Given the description of an element on the screen output the (x, y) to click on. 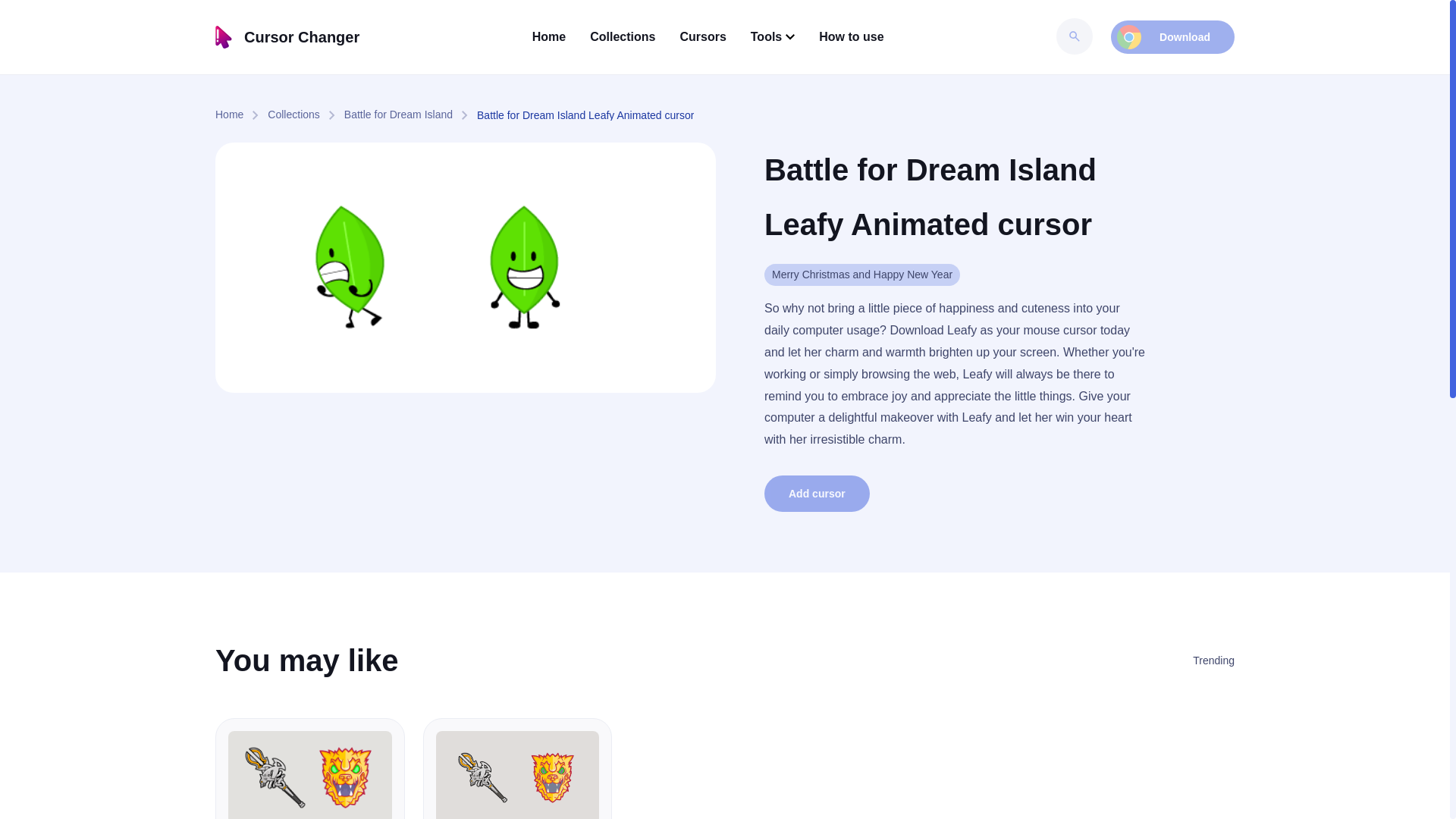
Battle for Dream Island (410, 114)
Collections (622, 36)
Home (549, 36)
Collections (305, 114)
Cursor Changer (287, 36)
Add cursor (816, 493)
Battle for Dream Island (410, 114)
Cursors (702, 36)
Tools (772, 37)
Home (241, 114)
Download (1172, 37)
Collections (305, 114)
Home (241, 114)
How to use (850, 36)
